Given the description of an element on the screen output the (x, y) to click on. 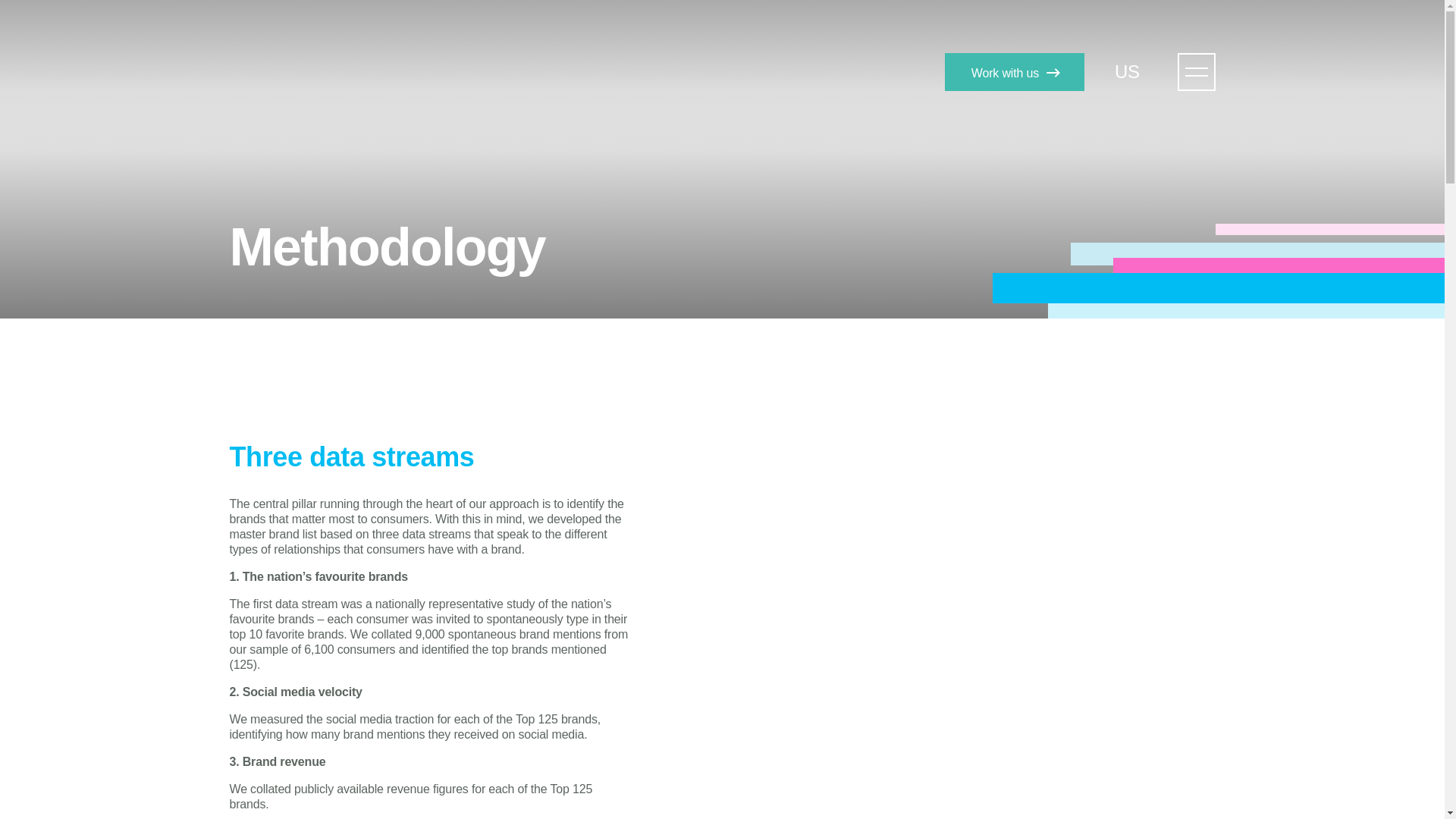
US (1134, 71)
Work with us (1014, 71)
